Given the description of an element on the screen output the (x, y) to click on. 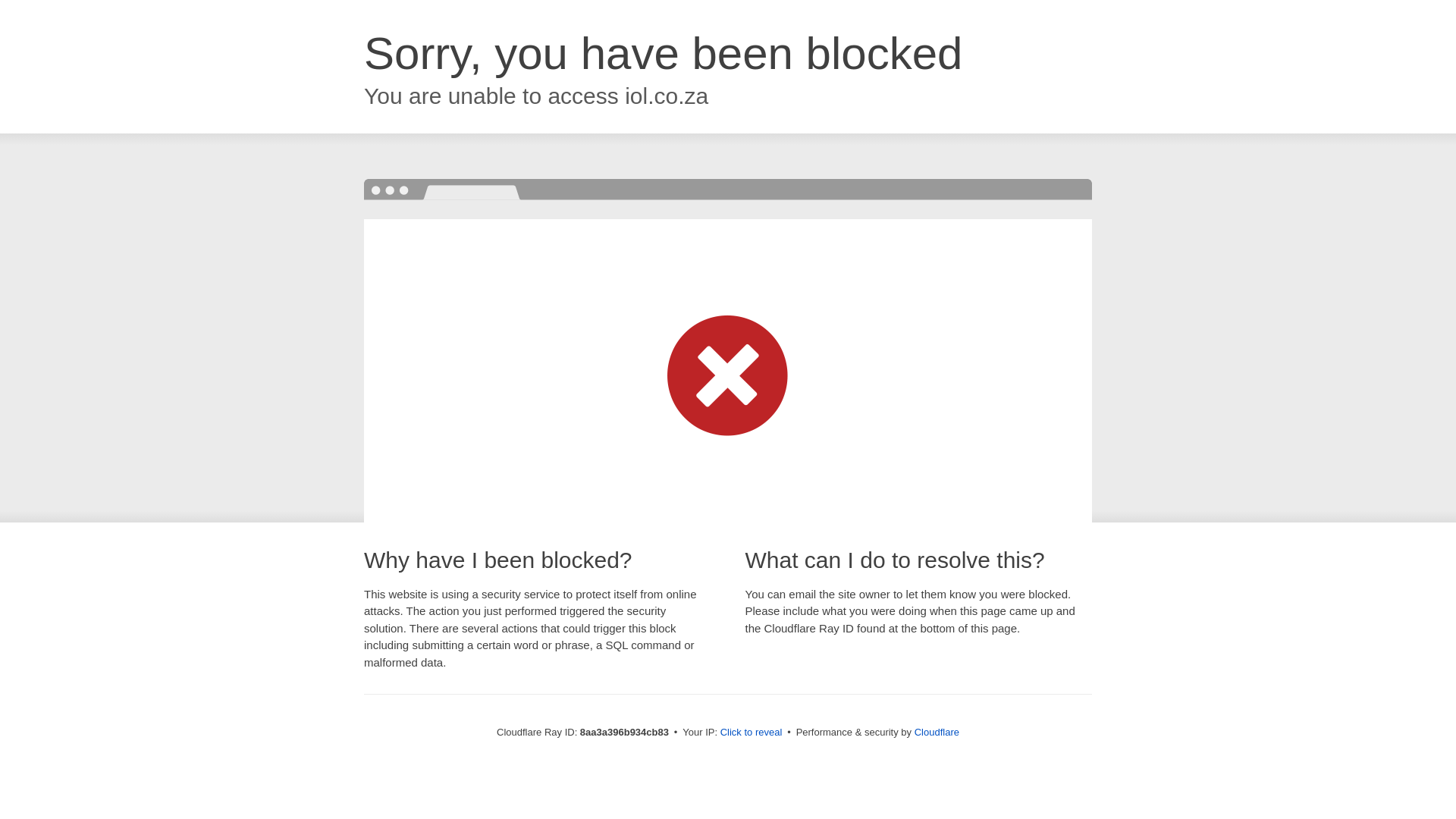
Click to reveal (751, 732)
Cloudflare (936, 731)
